Given the description of an element on the screen output the (x, y) to click on. 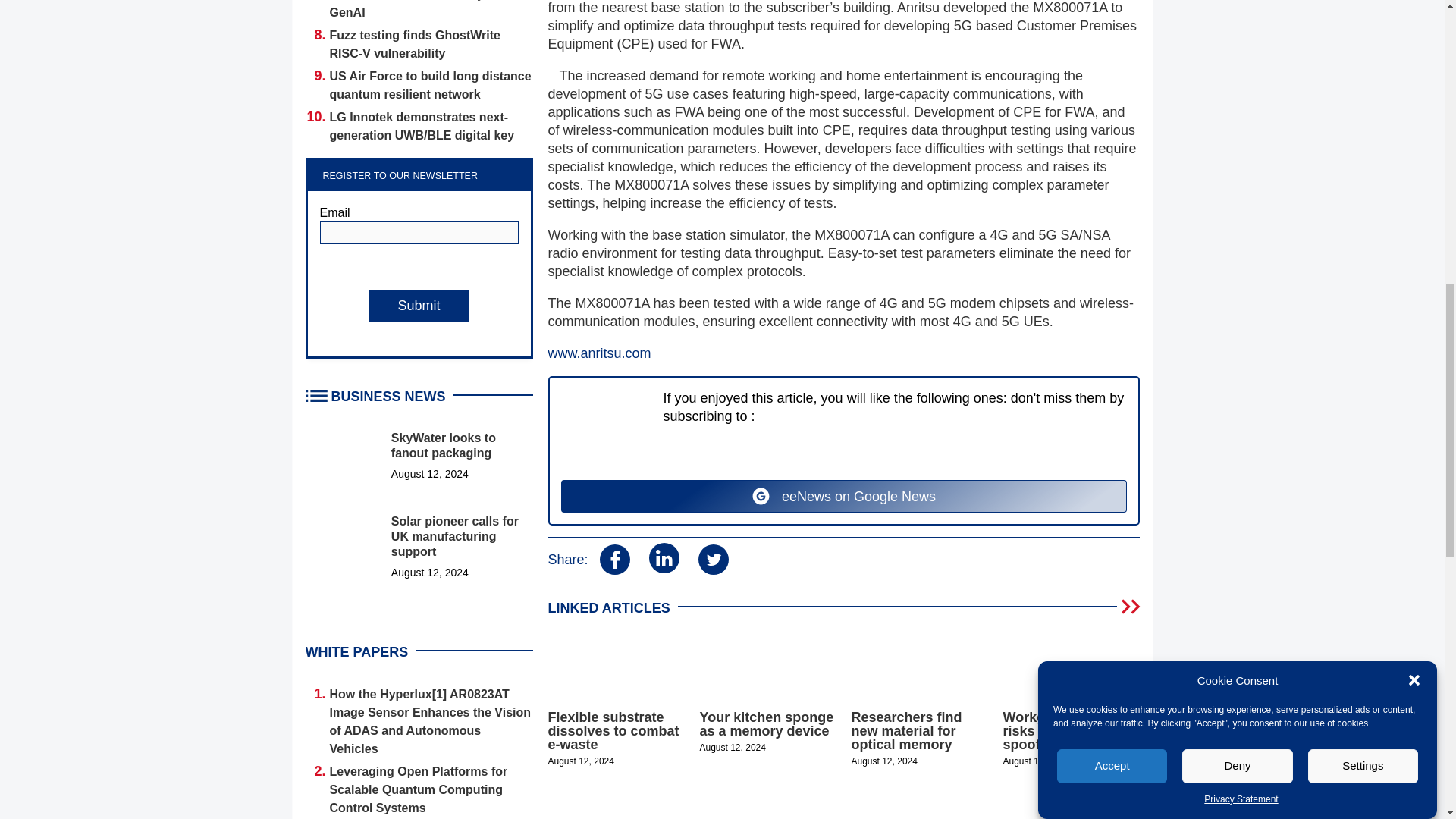
Deny (1237, 235)
Accept (1112, 251)
Submit (418, 305)
Privacy Statement (1241, 109)
Settings (1362, 204)
